Given the description of an element on the screen output the (x, y) to click on. 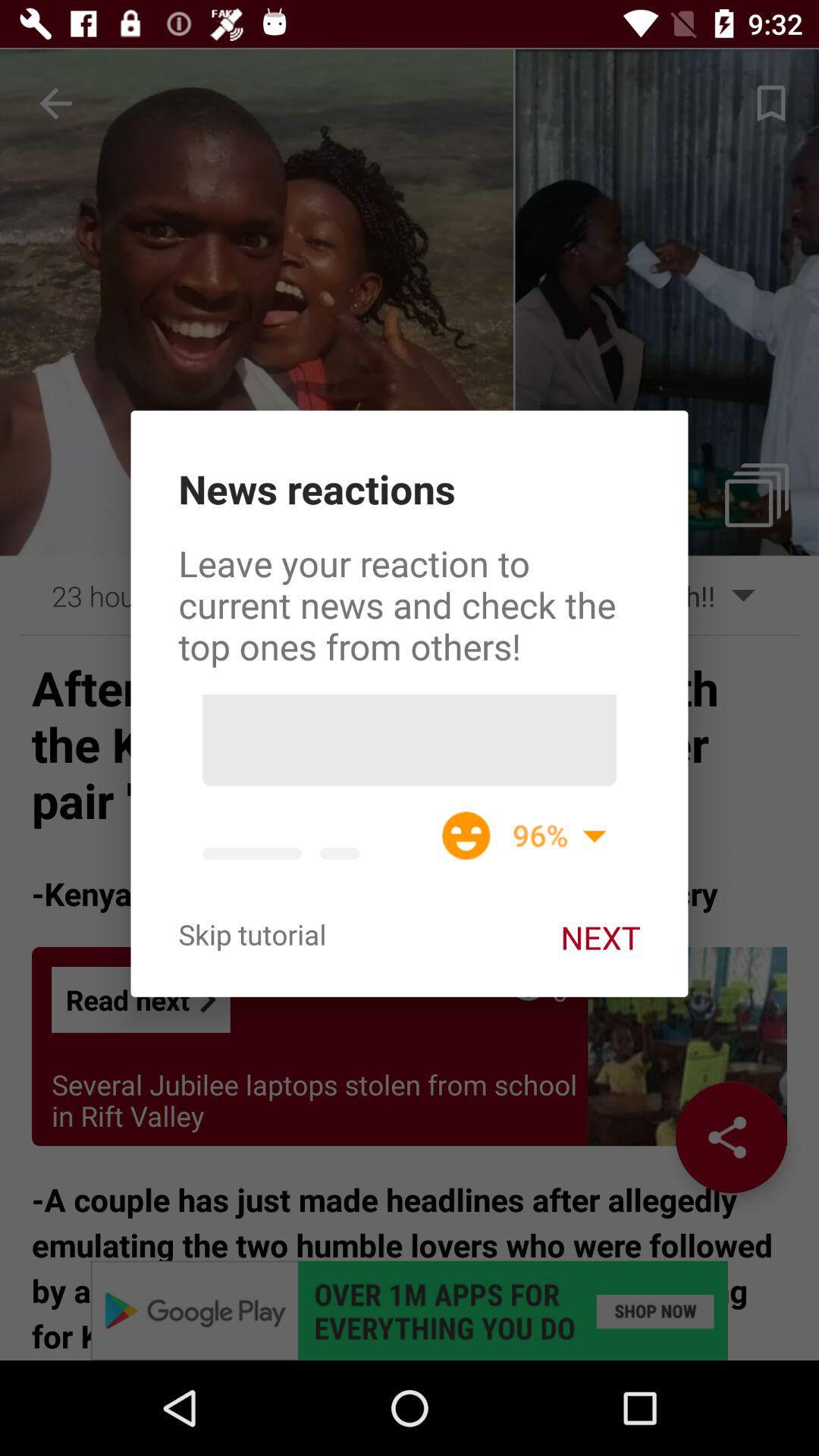
flip until next (600, 936)
